Given the description of an element on the screen output the (x, y) to click on. 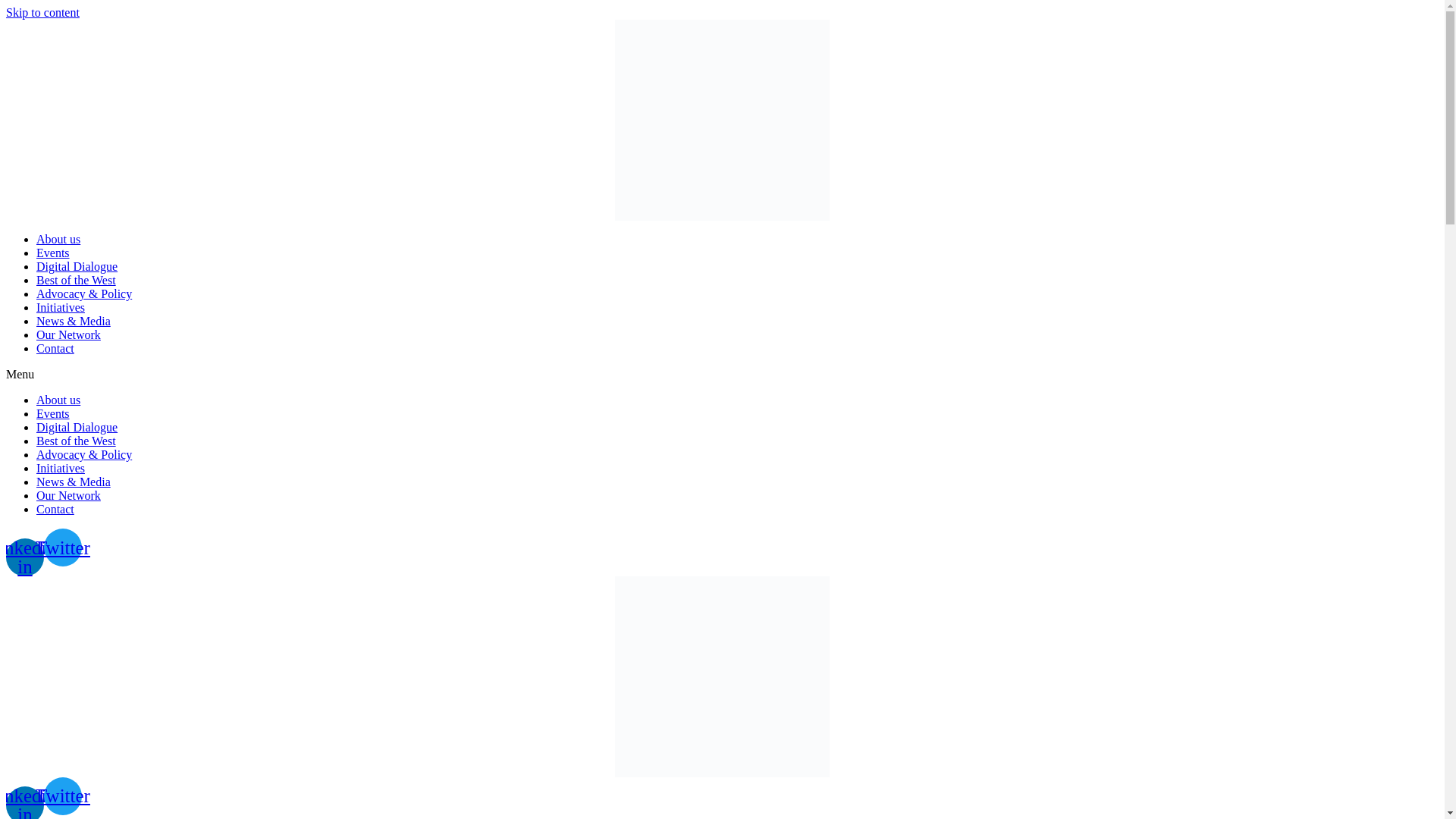
Events (52, 252)
Our Network (68, 334)
Initiatives (60, 468)
Initiatives (60, 307)
Best of the West (76, 279)
Digital Dialogue (76, 427)
Our Network (68, 495)
Twitter (62, 547)
Digital Dialogue (76, 266)
Best of the West (76, 440)
Linkedin-in (24, 802)
Contact (55, 348)
Twitter (62, 795)
Contact (55, 508)
Linkedin-in (24, 557)
